Given the description of an element on the screen output the (x, y) to click on. 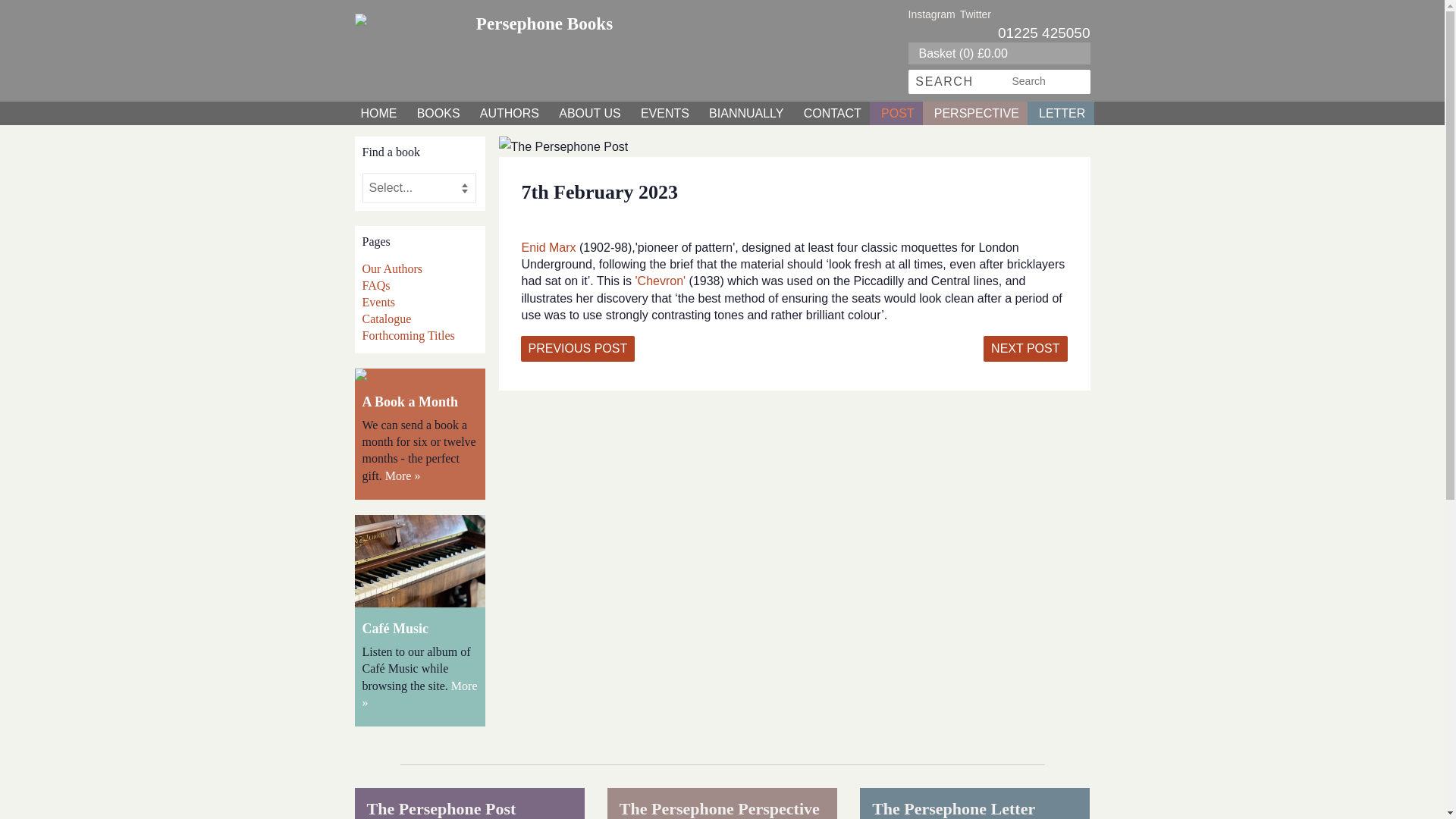
SEARCH (944, 82)
Persephone Books on Instagram (931, 14)
Persephone Books on Twitter (975, 14)
Chevron (659, 280)
01225 425050 (1043, 33)
Instagram (931, 14)
8th February 2023 (1025, 348)
Twitter (975, 14)
Enid Marx (550, 246)
6th February 2023 (576, 348)
